Given the description of an element on the screen output the (x, y) to click on. 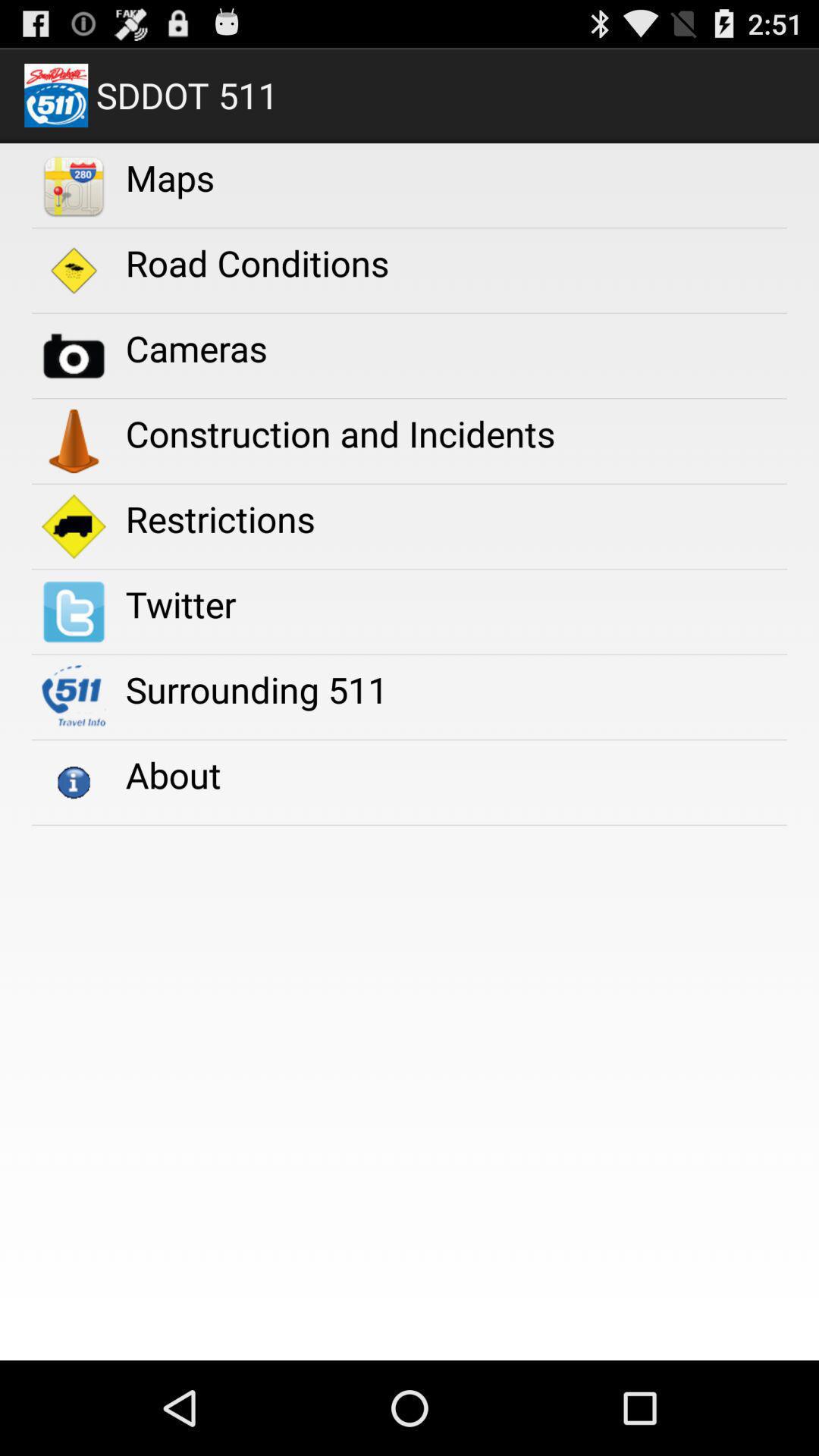
scroll to twitter app (180, 604)
